Given the description of an element on the screen output the (x, y) to click on. 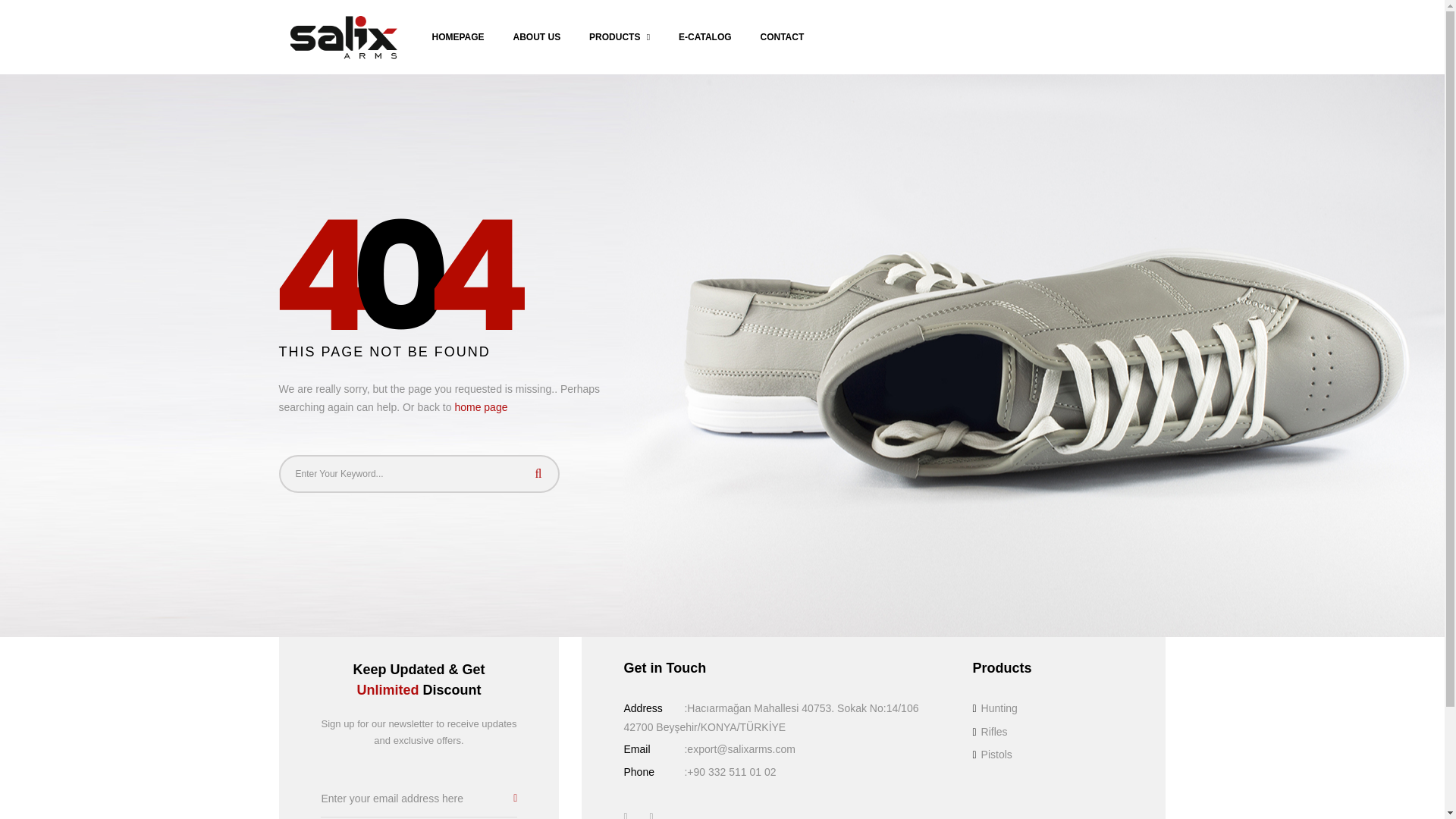
home page (480, 407)
Pistols (991, 754)
Hunting (994, 707)
Rifles (989, 730)
